Given the description of an element on the screen output the (x, y) to click on. 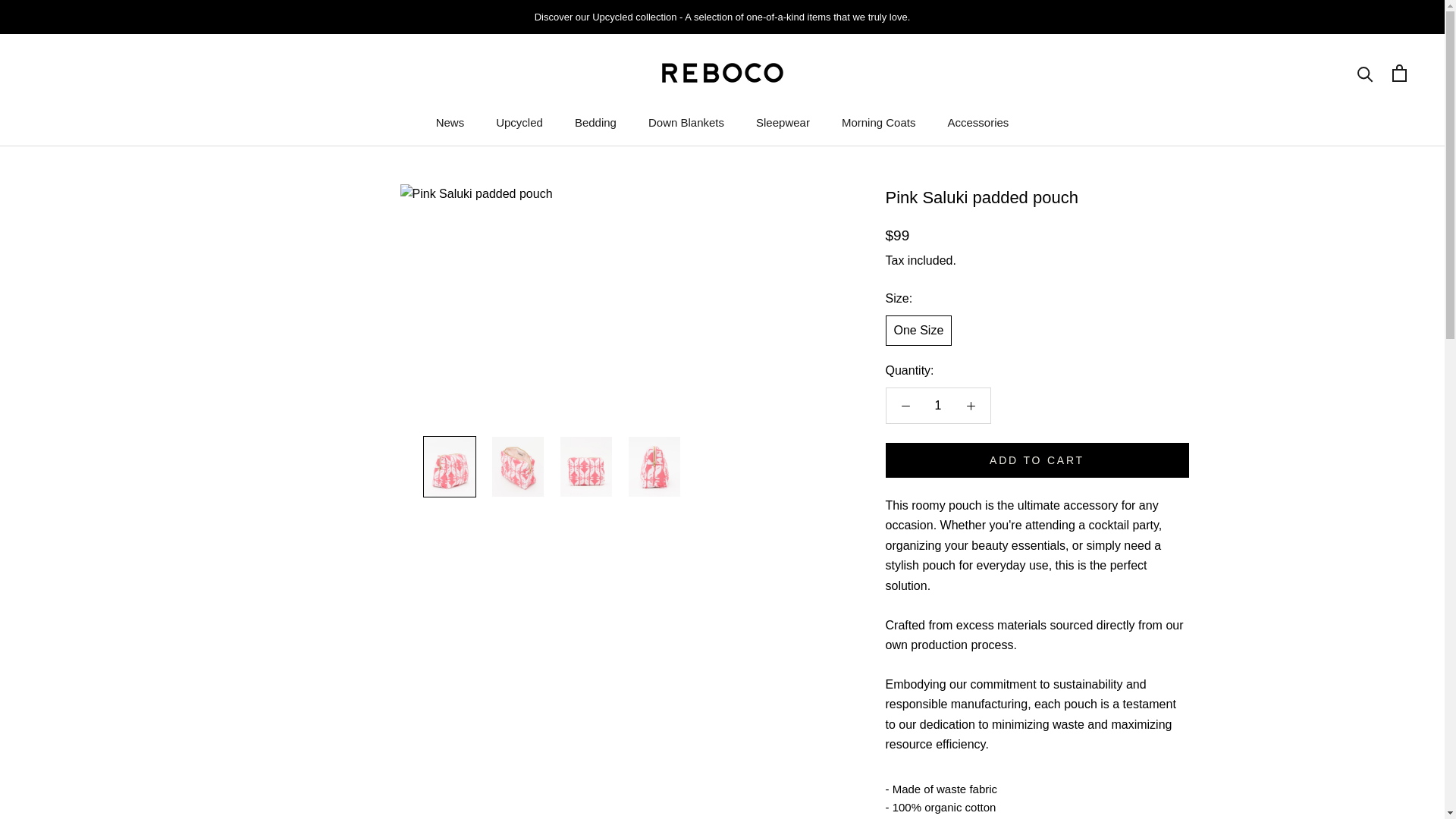
1 (685, 122)
Upcycled (938, 405)
Sleepwear (595, 122)
